Given the description of an element on the screen output the (x, y) to click on. 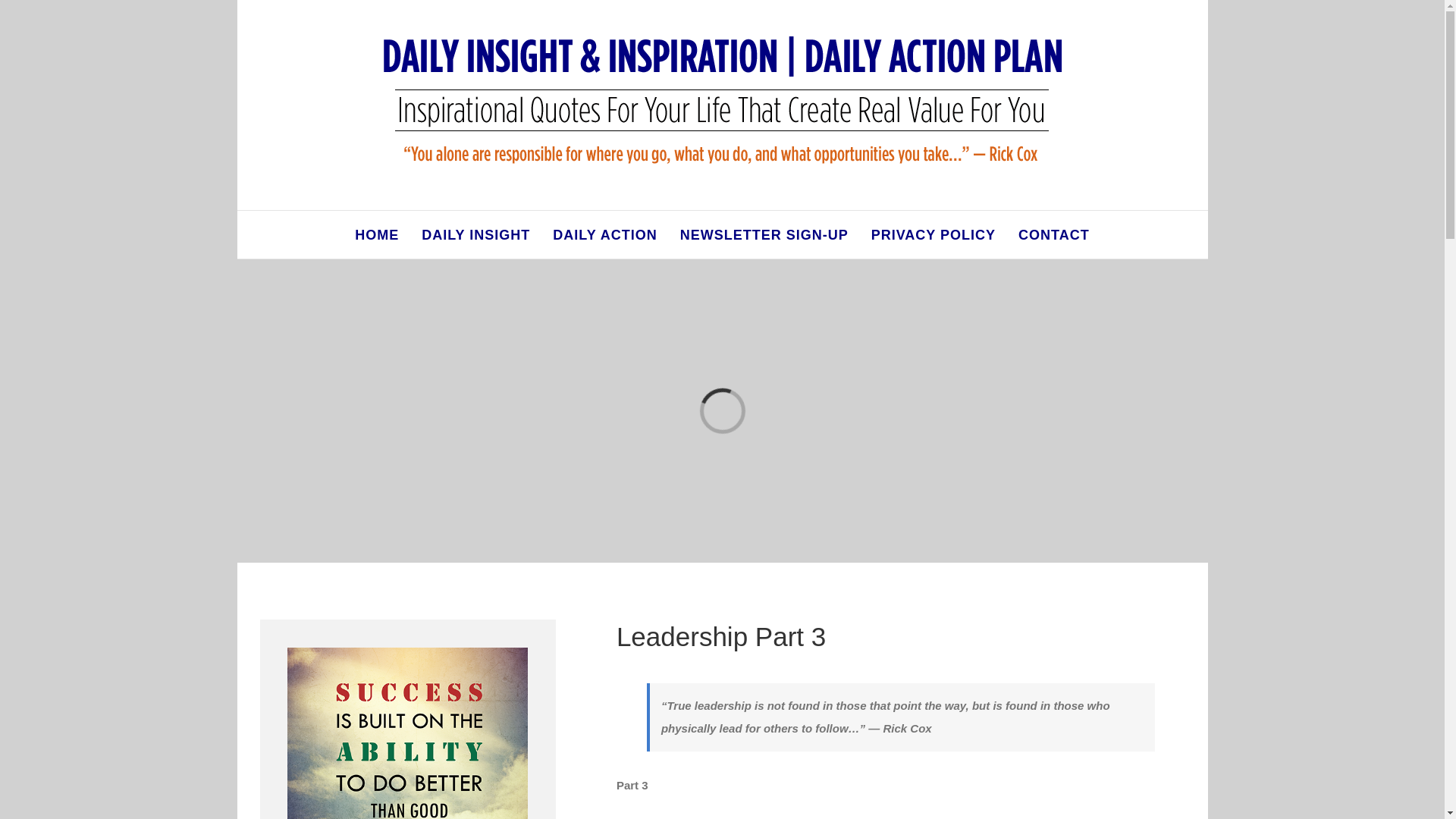
NEWSLETTER SIGN-UP (763, 234)
DAILY ACTION (604, 234)
CONTACT (1053, 234)
DAILY INSIGHT (475, 234)
PRIVACY POLICY (932, 234)
HOME (376, 234)
